Given the description of an element on the screen output the (x, y) to click on. 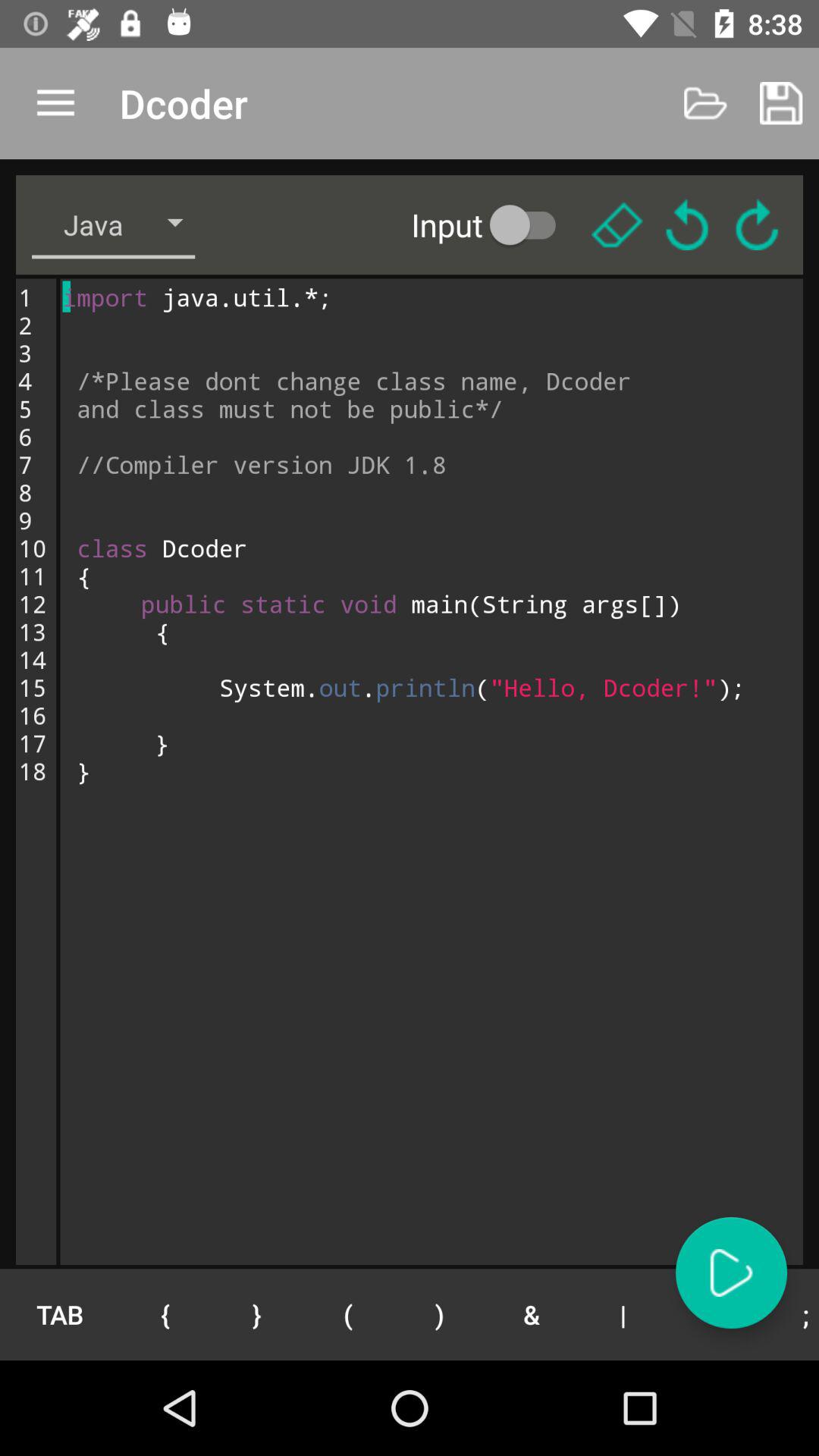
go to reload (756, 224)
